Given the description of an element on the screen output the (x, y) to click on. 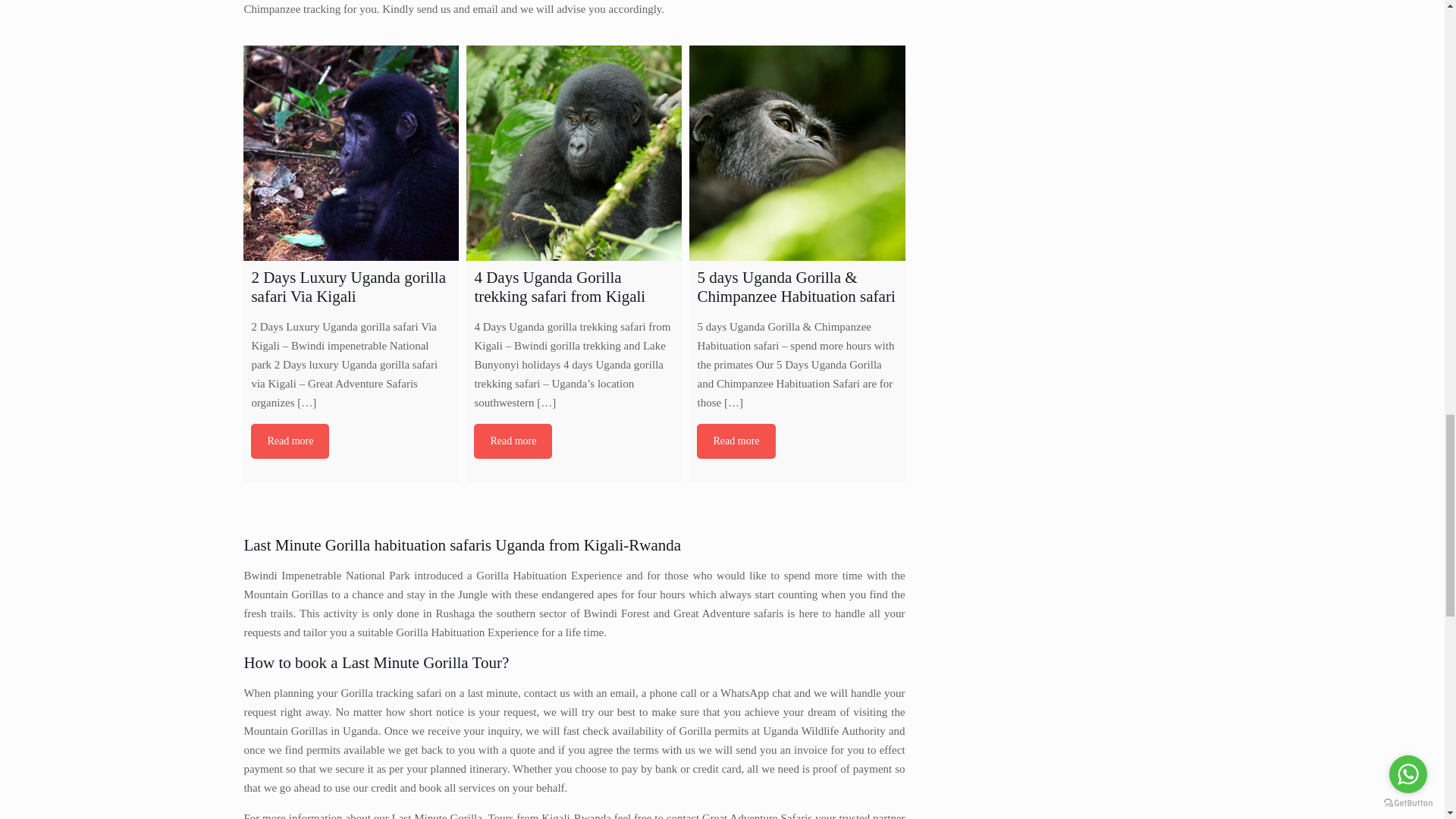
4 Days Uganda Gorilla trekking safari from Kigali (573, 153)
Read more (289, 441)
Read more (512, 441)
Read more (735, 441)
2 Days Luxury Uganda gorilla safari Via Kigali (350, 153)
